Given the description of an element on the screen output the (x, y) to click on. 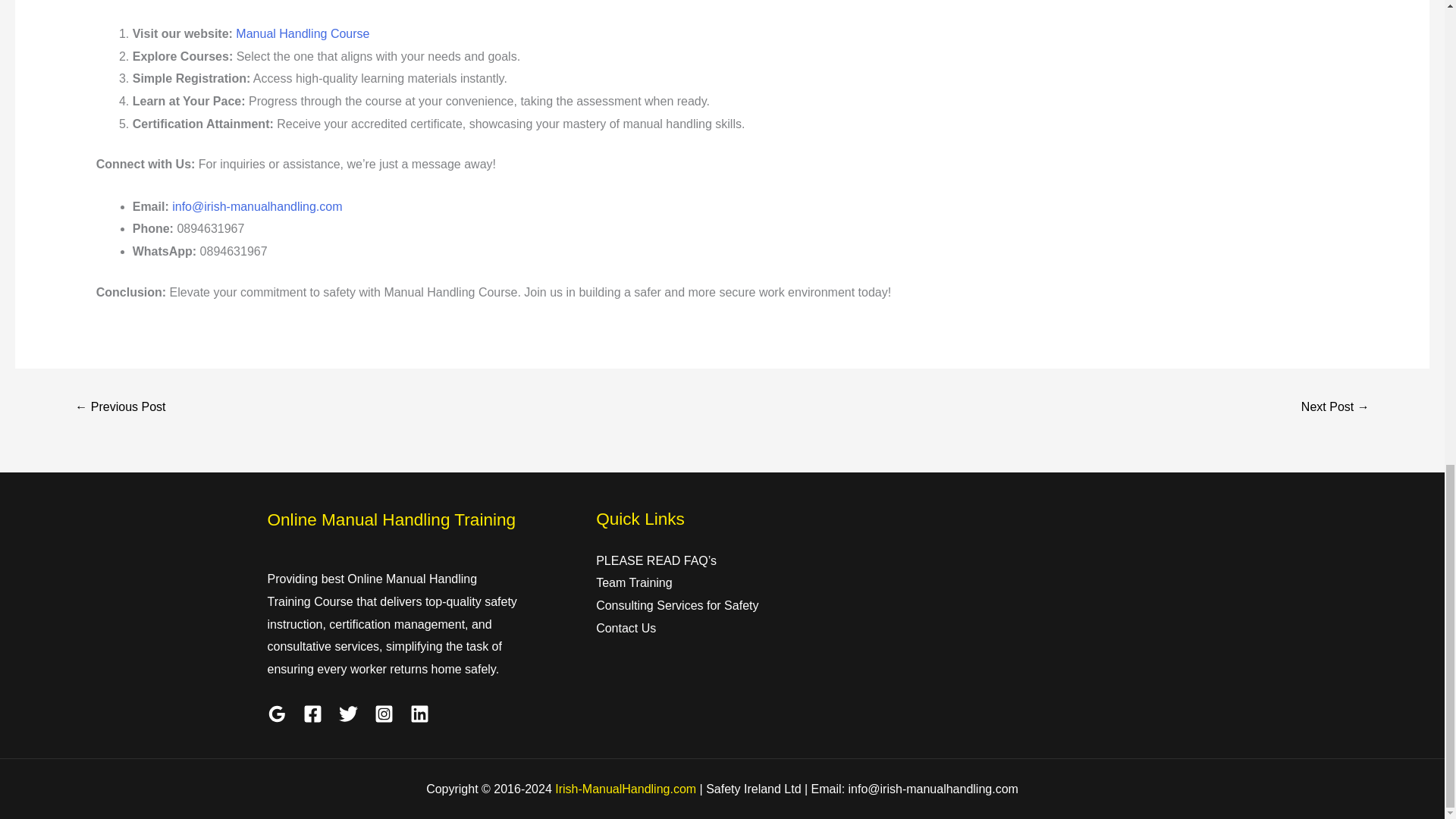
Manual Handling Course (302, 33)
Opt for the Premier Online Manual Handling Course in Ireland (119, 407)
